Given the description of an element on the screen output the (x, y) to click on. 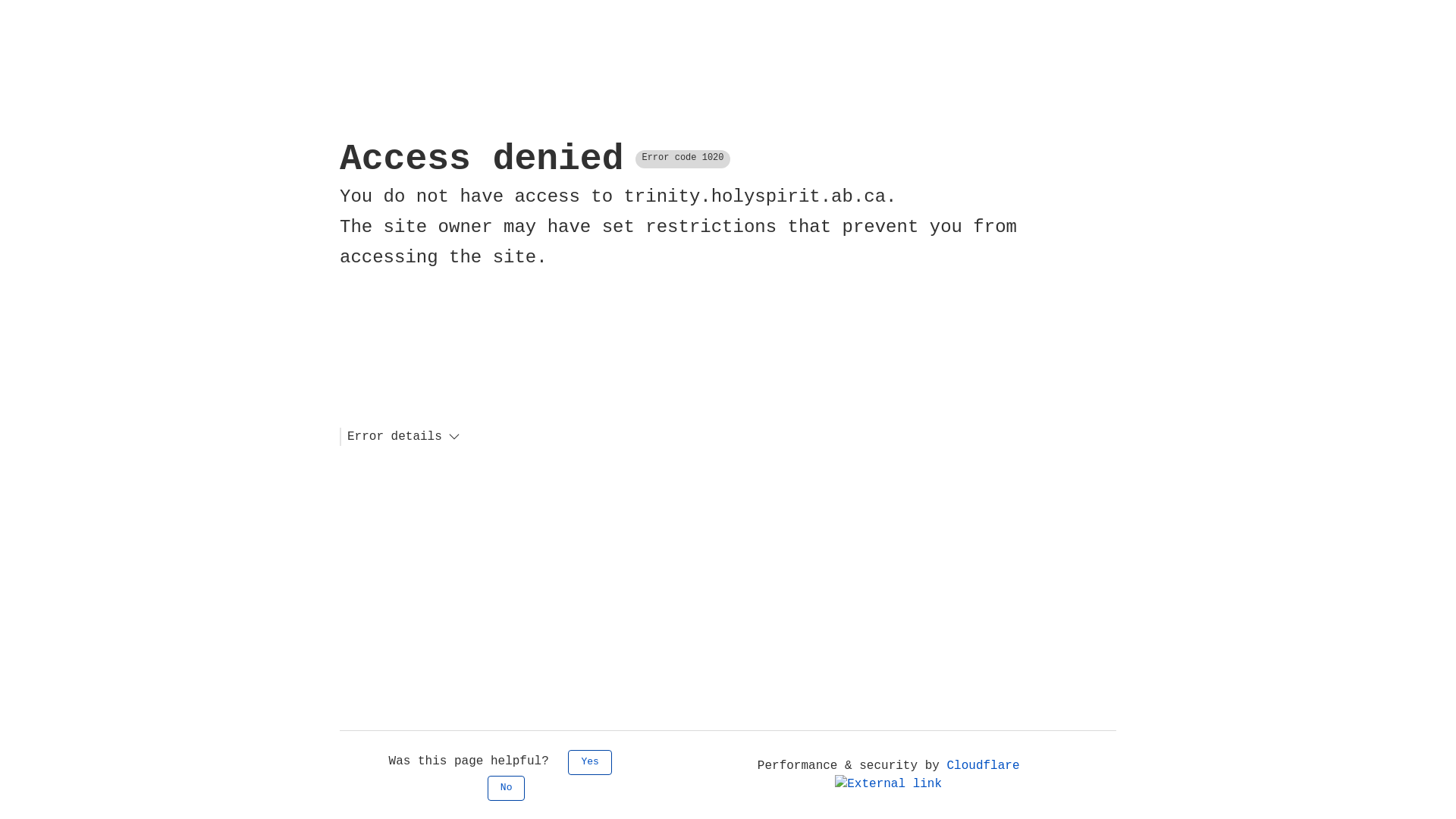
Yes Element type: text (589, 762)
Opens in new tab Element type: hover (887, 784)
Cloudflare Element type: text (925, 774)
No Element type: text (506, 787)
